Given the description of an element on the screen output the (x, y) to click on. 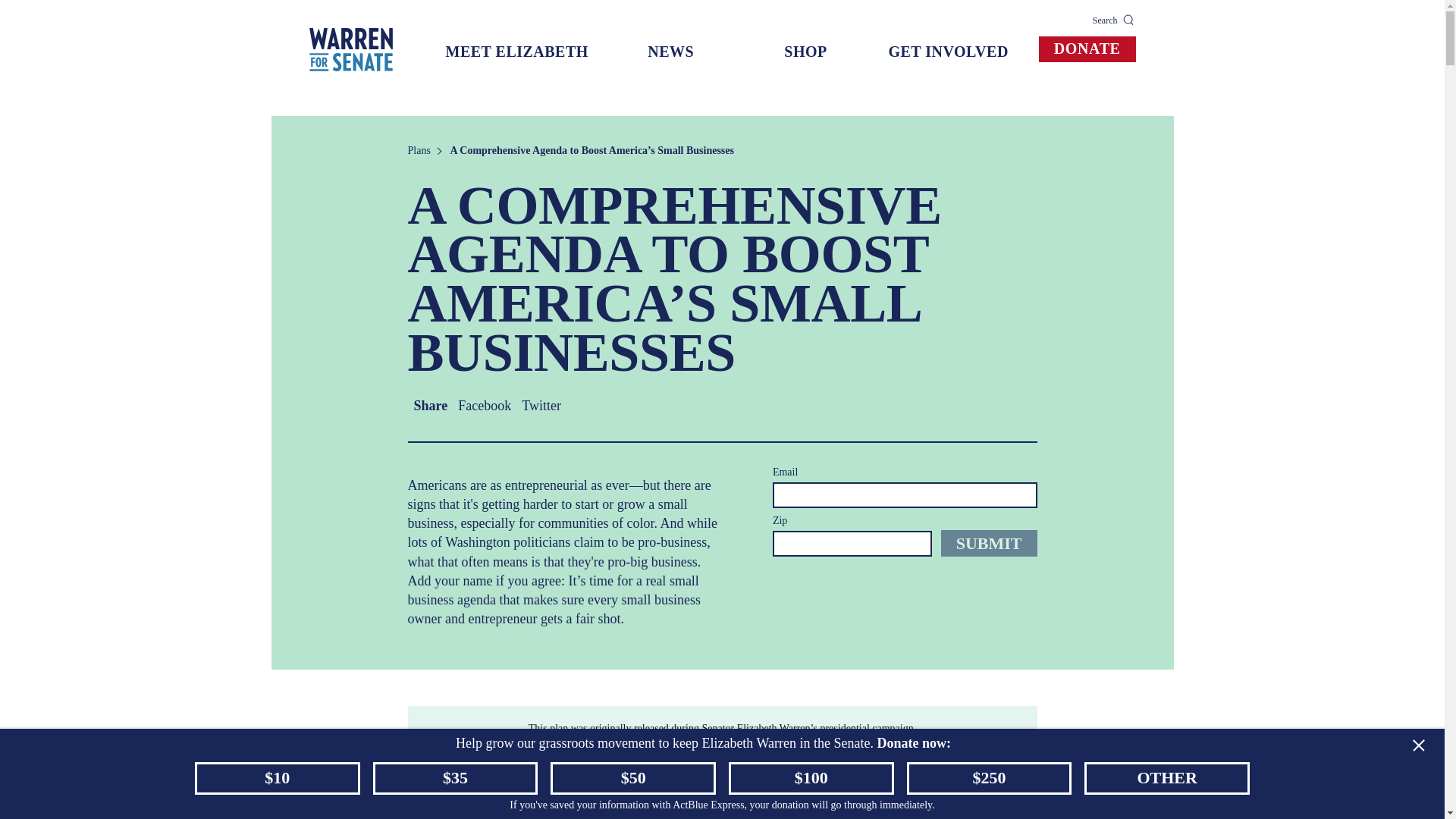
GET INVOLVED (947, 52)
NEWS (671, 52)
SHOP (805, 52)
Warren for Senate Logo (350, 48)
DONATE (1087, 49)
Warren for Senate Logo (350, 48)
SUBMIT (988, 542)
Close donate bar (1416, 744)
Facebook (484, 405)
Search (1114, 20)
MEET ELIZABETH (517, 52)
Plans (418, 150)
Twitter (540, 405)
